Given the description of an element on the screen output the (x, y) to click on. 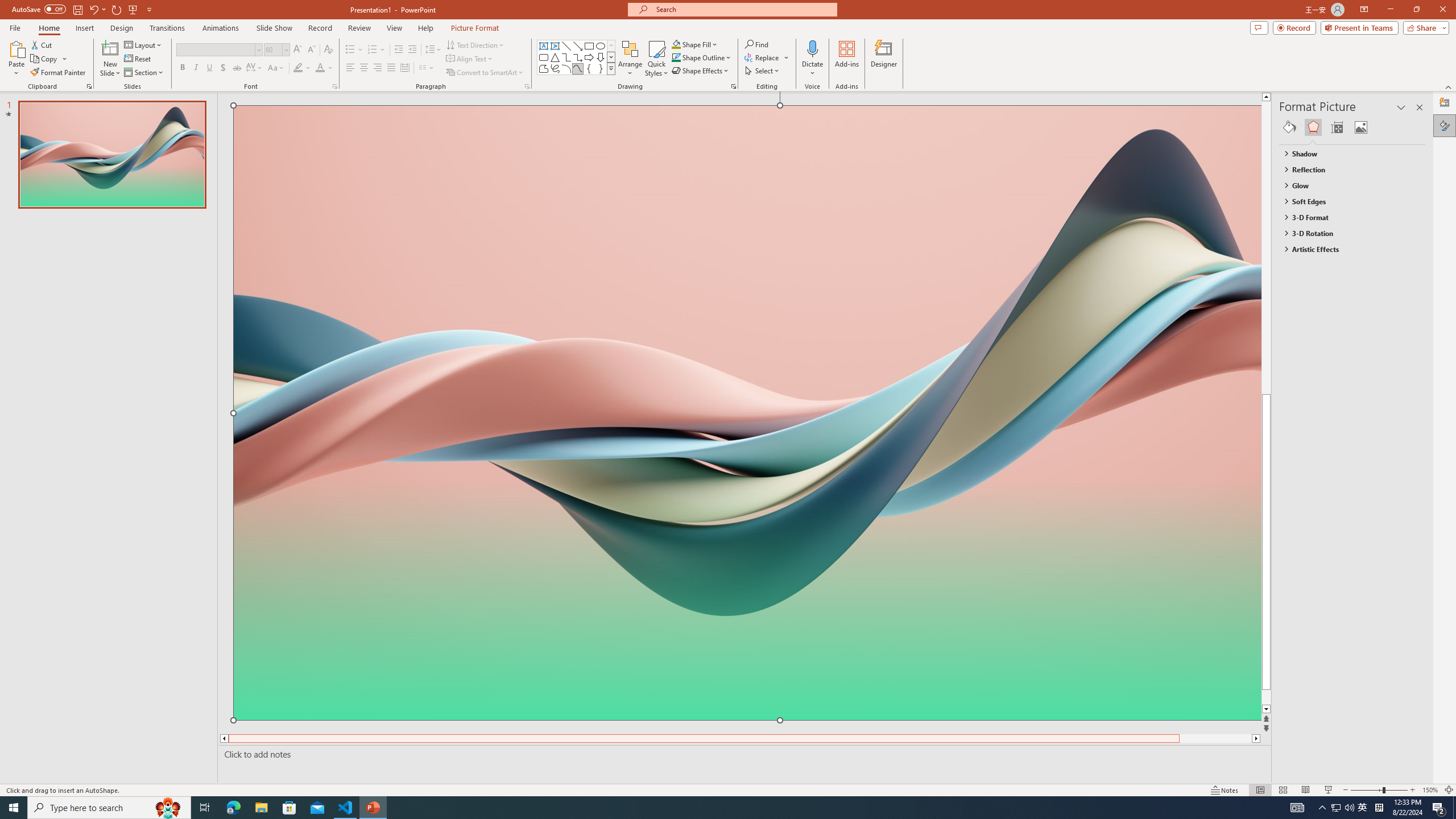
Artistic Effects (1347, 248)
Format Picture (1444, 125)
Picture (1361, 126)
